Given the description of an element on the screen output the (x, y) to click on. 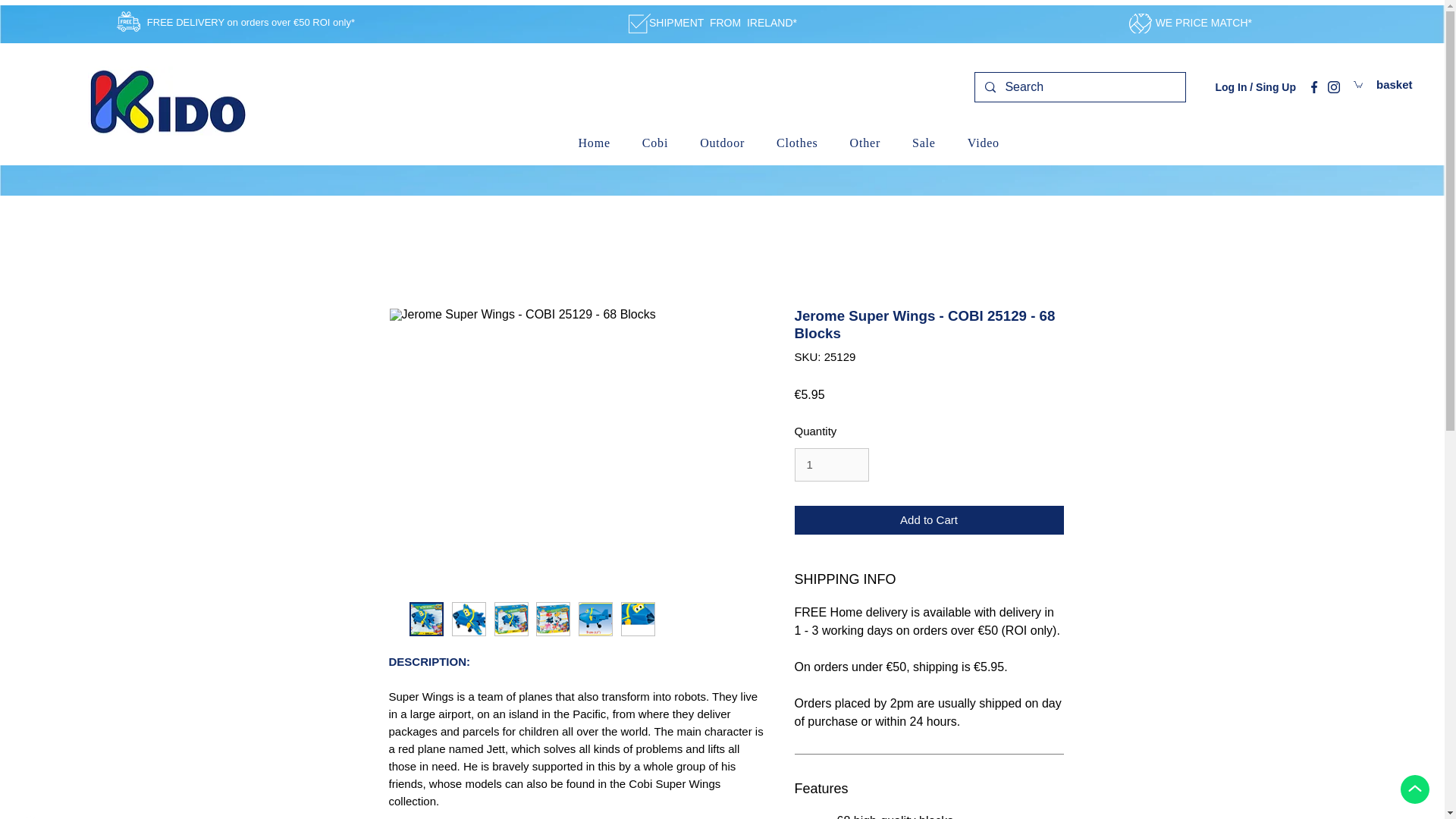
1 (834, 142)
Video (831, 464)
Other (983, 142)
Clothes (865, 142)
Home (797, 142)
Outdoor (594, 142)
